Given the description of an element on the screen output the (x, y) to click on. 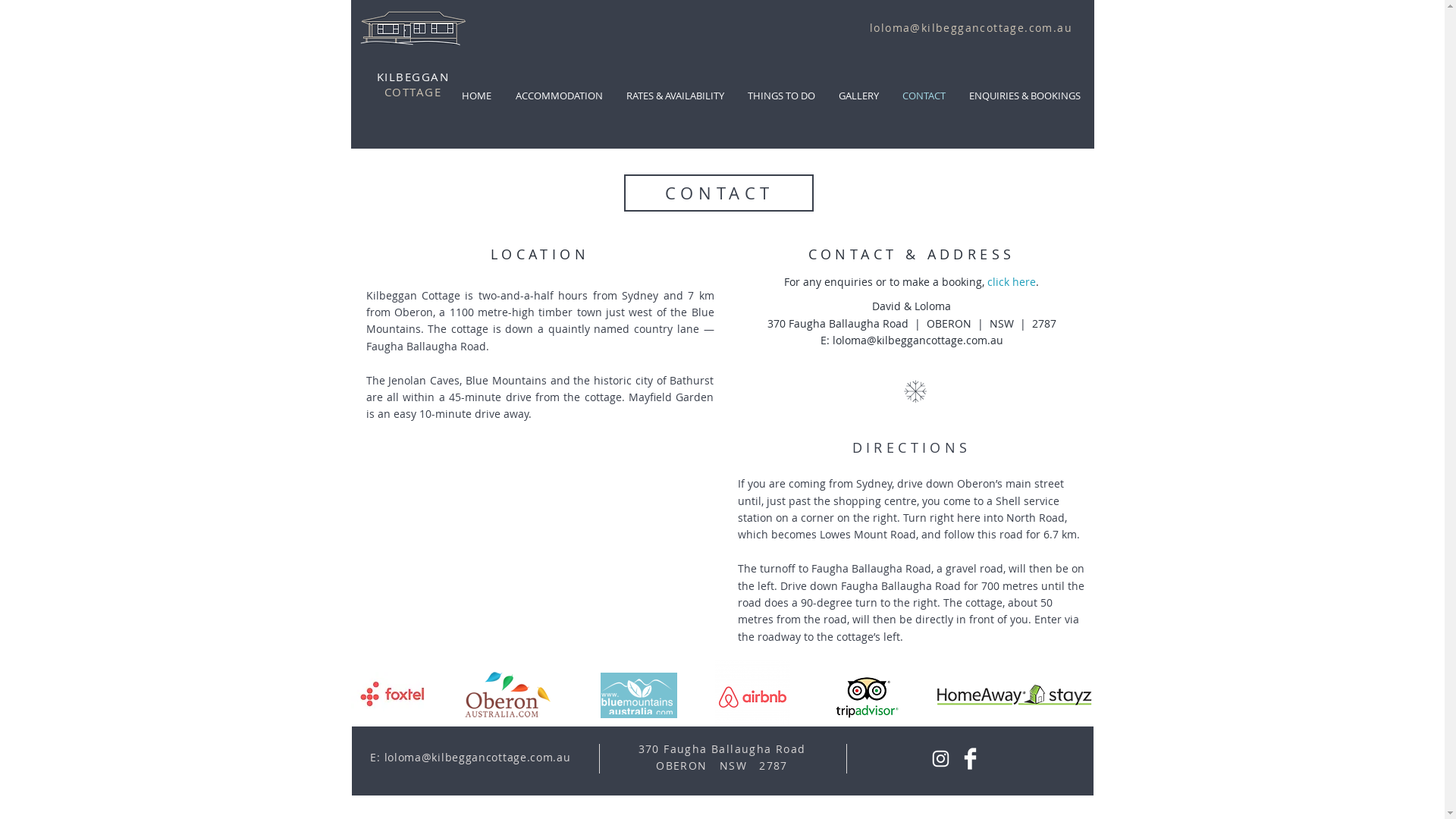
CONTACT Element type: text (923, 95)
click here Element type: text (1011, 281)
E: loloma@kilbeggancottage.com.au Element type: text (470, 756)
THINGS TO DO Element type: text (780, 95)
KILBEGGAN Element type: text (412, 76)
ACCOMMODATION Element type: text (559, 95)
loloma@kilbeggancottage.com.au Element type: text (970, 27)
ENQUIRIES & BOOKINGS Element type: text (1024, 95)
GALLERY Element type: text (858, 95)
RATES & AVAILABILITY Element type: text (674, 95)
COTTAGE Element type: text (413, 91)
HOME Element type: text (475, 95)
Google Maps Element type: hover (538, 539)
loloma@kilbeggancottage.com.au Element type: text (917, 339)
